Given the description of an element on the screen output the (x, y) to click on. 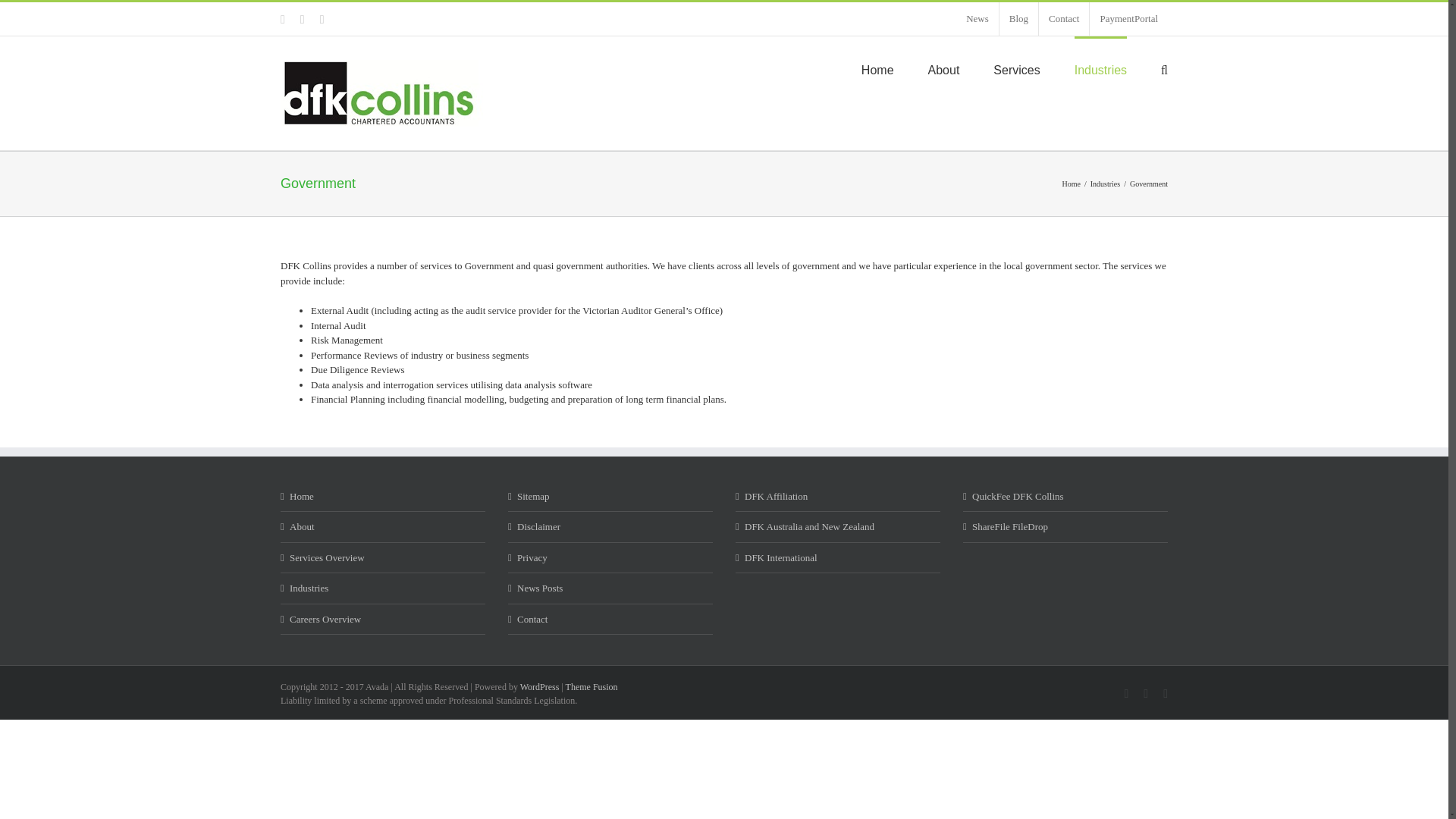
Contact (1064, 19)
PaymentPortal (1128, 19)
News (977, 19)
Blog (1018, 19)
